Given the description of an element on the screen output the (x, y) to click on. 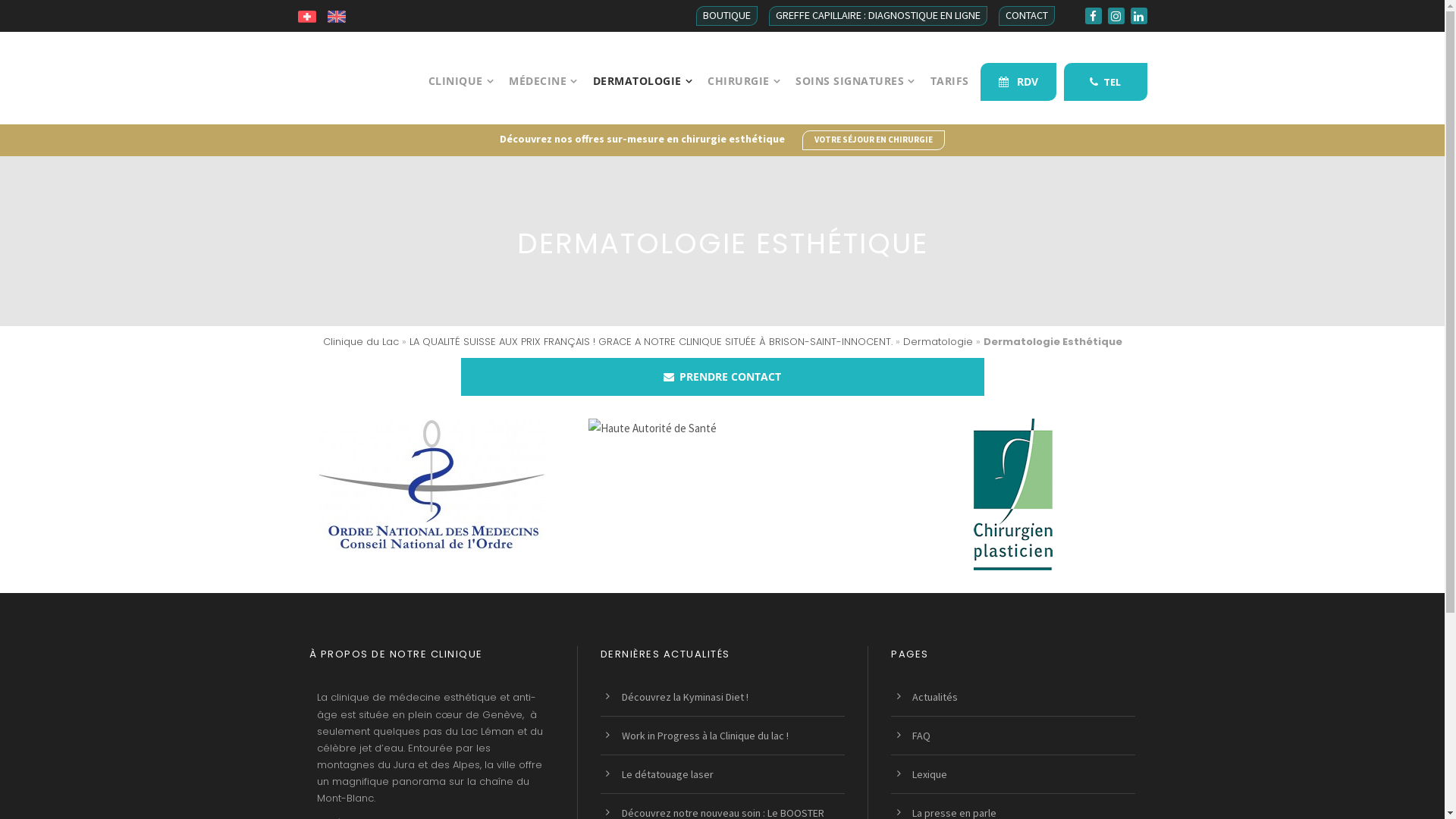
TEL Element type: text (1104, 81)
Facebook Element type: hover (1092, 15)
Instagram Element type: hover (1115, 15)
CLINIQUE Element type: text (460, 98)
Dermatologie Element type: text (937, 341)
PRENDRE CONTACT Element type: text (722, 376)
Clinique du Lac Element type: text (360, 341)
SOINS SIGNATURES Element type: text (855, 98)
DERMATOLOGIE Element type: text (643, 98)
Lexique Element type: text (929, 774)
LinkedIn Element type: hover (1137, 15)
GREFFE CAPILLAIRE : DIAGNOSTIQUE EN LIGNE Element type: text (877, 15)
RDV Element type: text (1017, 81)
CHIRURGIE Element type: text (743, 98)
CONTACT Element type: text (1025, 15)
English Element type: hover (336, 15)
TARIFS Element type: text (948, 98)
BOUTIQUE Element type: text (726, 15)
FAQ Element type: text (921, 735)
